Given the description of an element on the screen output the (x, y) to click on. 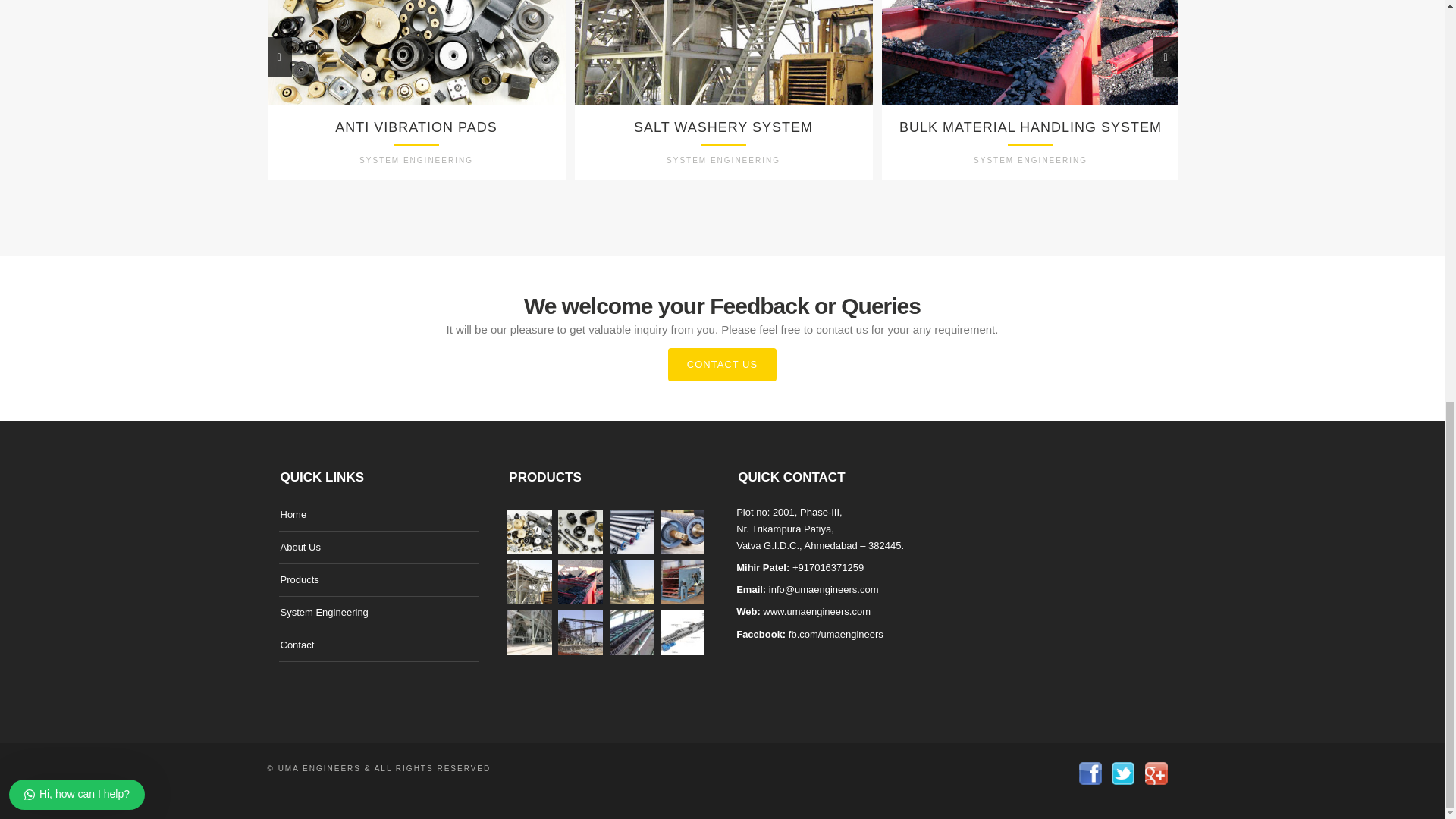
Home (294, 514)
Contact (297, 644)
Anti Vibration Pads (415, 90)
About Us (723, 90)
Salt Washery System (300, 546)
CONTACT US (723, 90)
Products (1029, 90)
Bulk Material Handling System (722, 364)
System Engineering (299, 579)
